Given the description of an element on the screen output the (x, y) to click on. 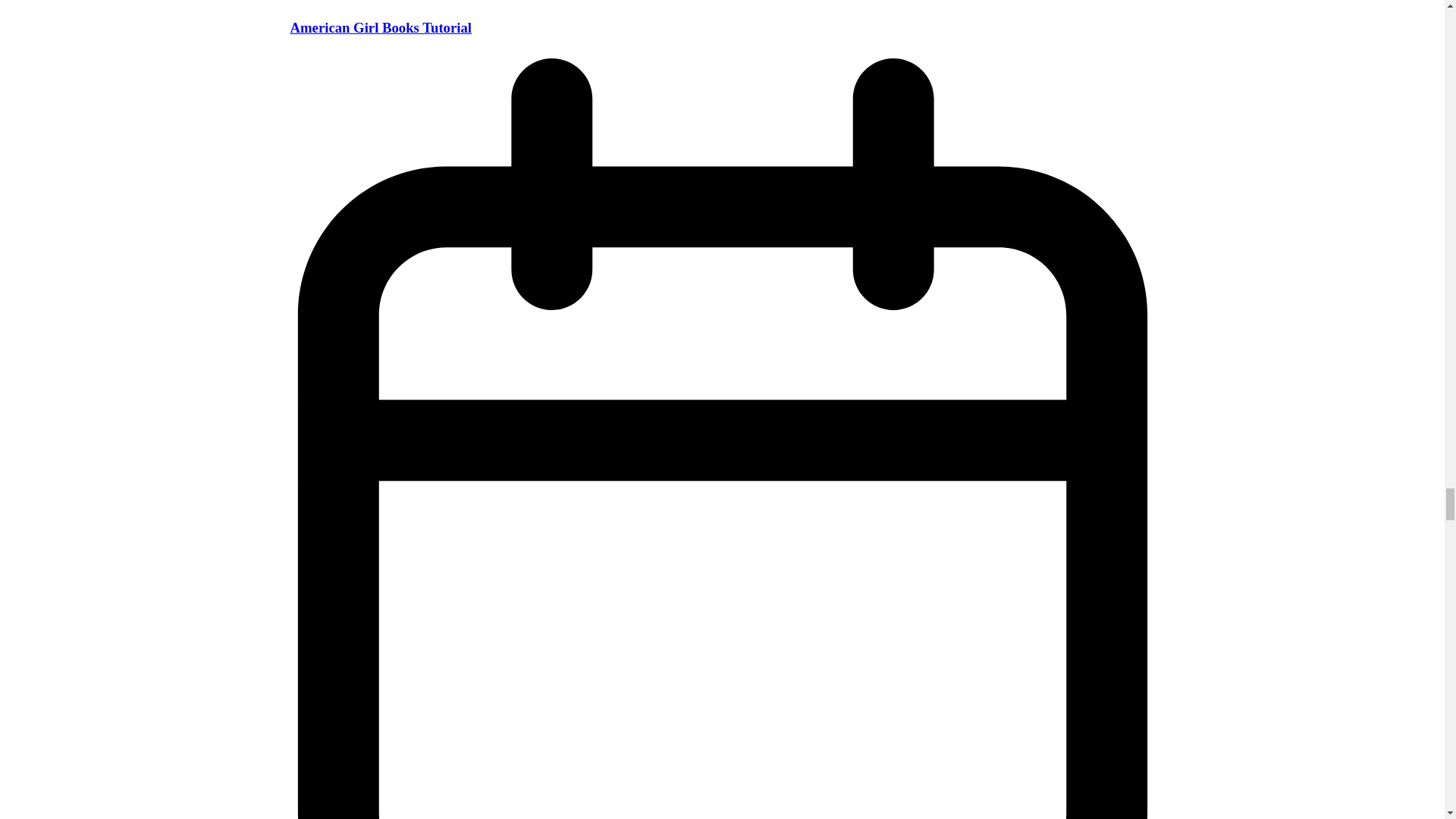
American Girl Books Tutorial (380, 27)
